Given the description of an element on the screen output the (x, y) to click on. 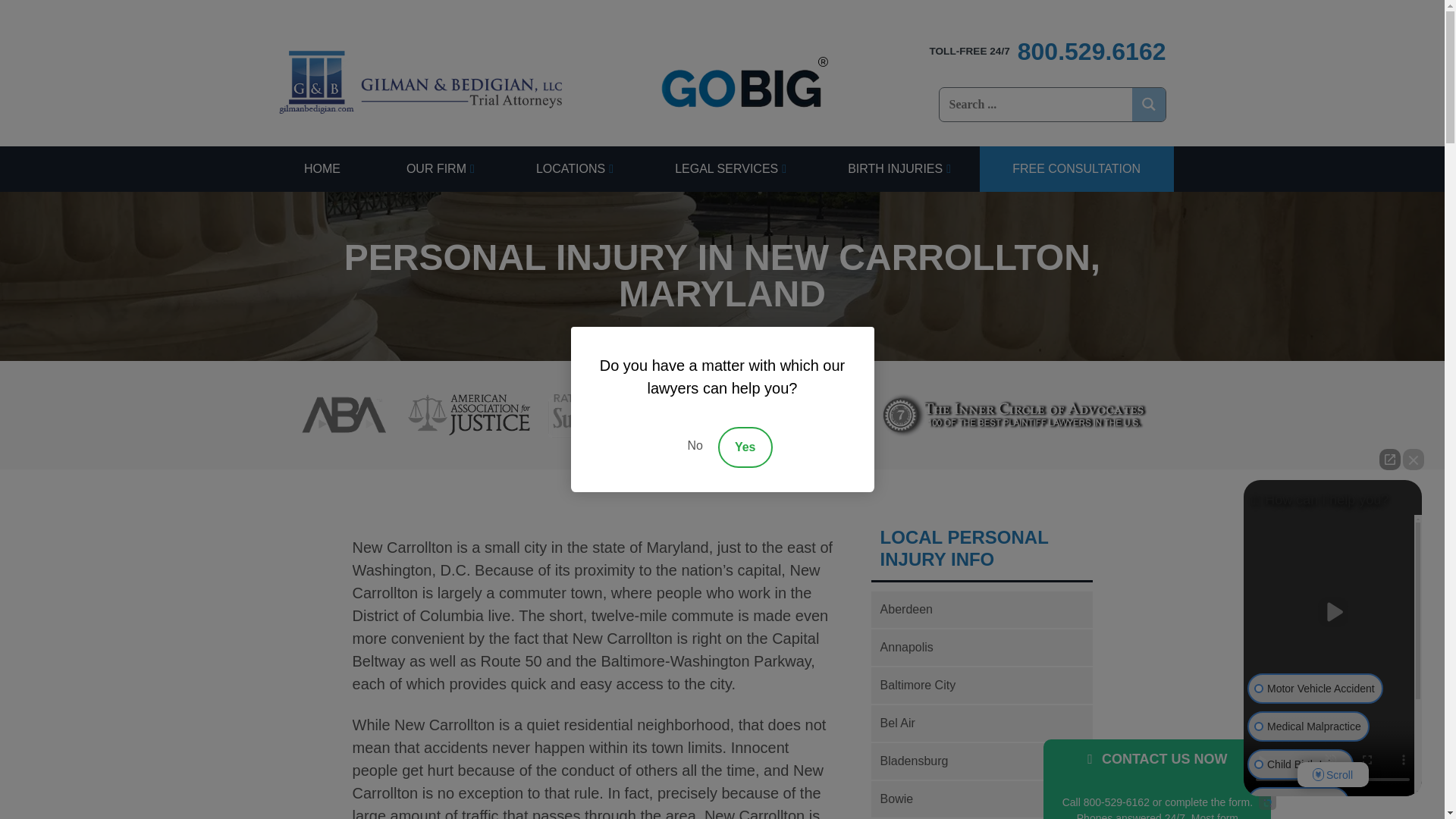
HOME (321, 168)
LEGAL SERVICES (728, 168)
Maryland Personal Injury Information  (981, 548)
OUR FIRM (437, 168)
800.529.6162 (1047, 51)
Start search (975, 120)
LOCATIONS (572, 168)
